Given the description of an element on the screen output the (x, y) to click on. 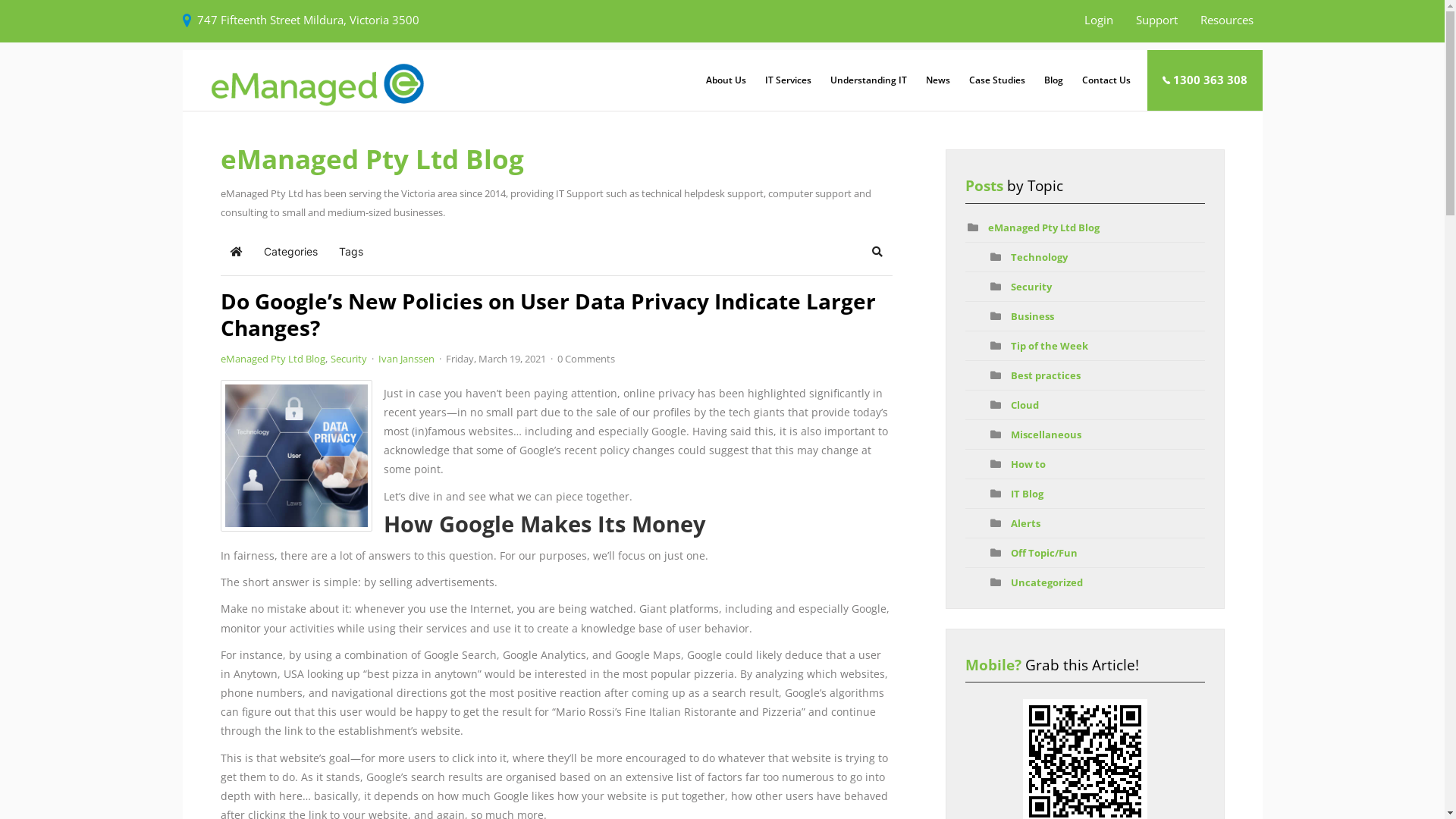
Cloud Element type: text (1024, 404)
Tags Element type: text (351, 251)
0 Comments Element type: text (585, 358)
Business Element type: text (1032, 316)
Uncategorized Element type: text (1046, 582)
Technology Element type: text (1038, 256)
Categories Element type: text (289, 251)
Security Element type: text (1030, 286)
Case Studies Element type: text (995, 79)
eManaged Pty Ltd Blog Element type: text (271, 358)
eManaged Pty Ltd Blog Element type: text (1043, 227)
Security Element type: text (348, 358)
Blog Element type: text (1053, 79)
About Us Element type: text (725, 79)
Alerts Element type: text (1025, 523)
Resources Element type: text (1226, 19)
Tip of the Week Element type: text (1049, 345)
Understanding IT Element type: text (868, 79)
Search Element type: text (877, 251)
News Element type: text (937, 79)
Contact Us Element type: text (1105, 79)
Home Element type: text (235, 251)
Miscellaneous Element type: text (1045, 434)
 1300 363 308 Element type: text (1203, 79)
Off Topic/Fun Element type: text (1043, 552)
IT Services Element type: text (787, 79)
IT Blog Element type: text (1026, 493)
Best practices Element type: text (1045, 375)
747 Fifteenth Street Mildura, Victoria 3500 Element type: text (308, 20)
Ivan Janssen Element type: text (405, 358)
How to Element type: text (1027, 463)
Support Element type: text (1156, 19)
Login Element type: text (1098, 19)
